Given the description of an element on the screen output the (x, y) to click on. 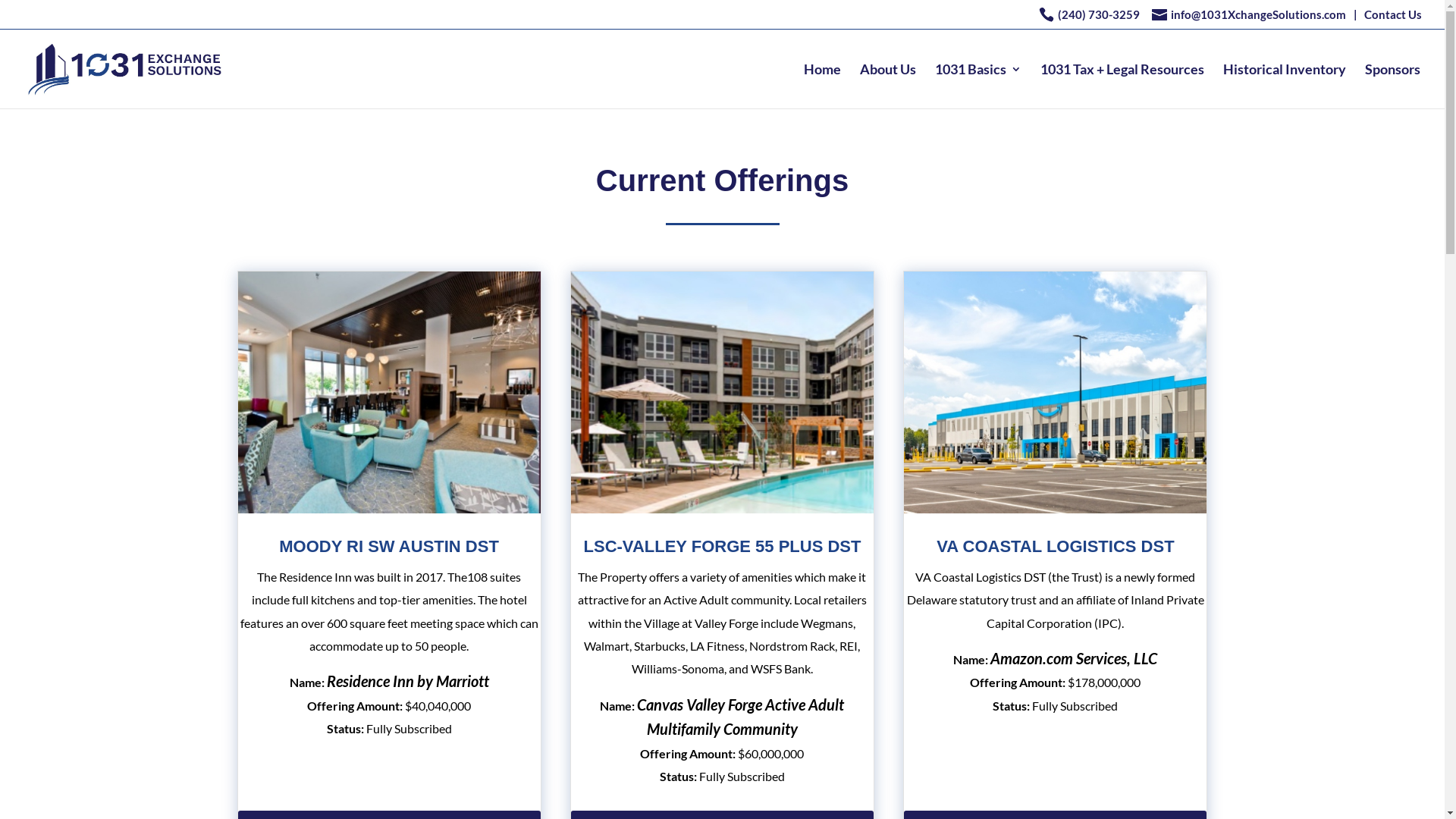
VA COASTAL LOGISTICS DST Element type: text (1054, 545)
Sponsors Element type: text (1392, 85)
1031 Tax + Legal Resources Element type: text (1122, 85)
MOODY RI SW AUSTIN DST Element type: text (388, 545)
Contact Us Element type: text (1392, 18)
info@1031XchangeSolutions.com Element type: text (1248, 14)
Home Element type: text (821, 85)
Historical Inventory Element type: text (1284, 85)
(240) 730-3259 Element type: text (1098, 14)
1031 Basics Element type: text (978, 85)
About Us Element type: text (887, 85)
LSC-VALLEY FORGE 55 PLUS DST Element type: text (722, 545)
